Given the description of an element on the screen output the (x, y) to click on. 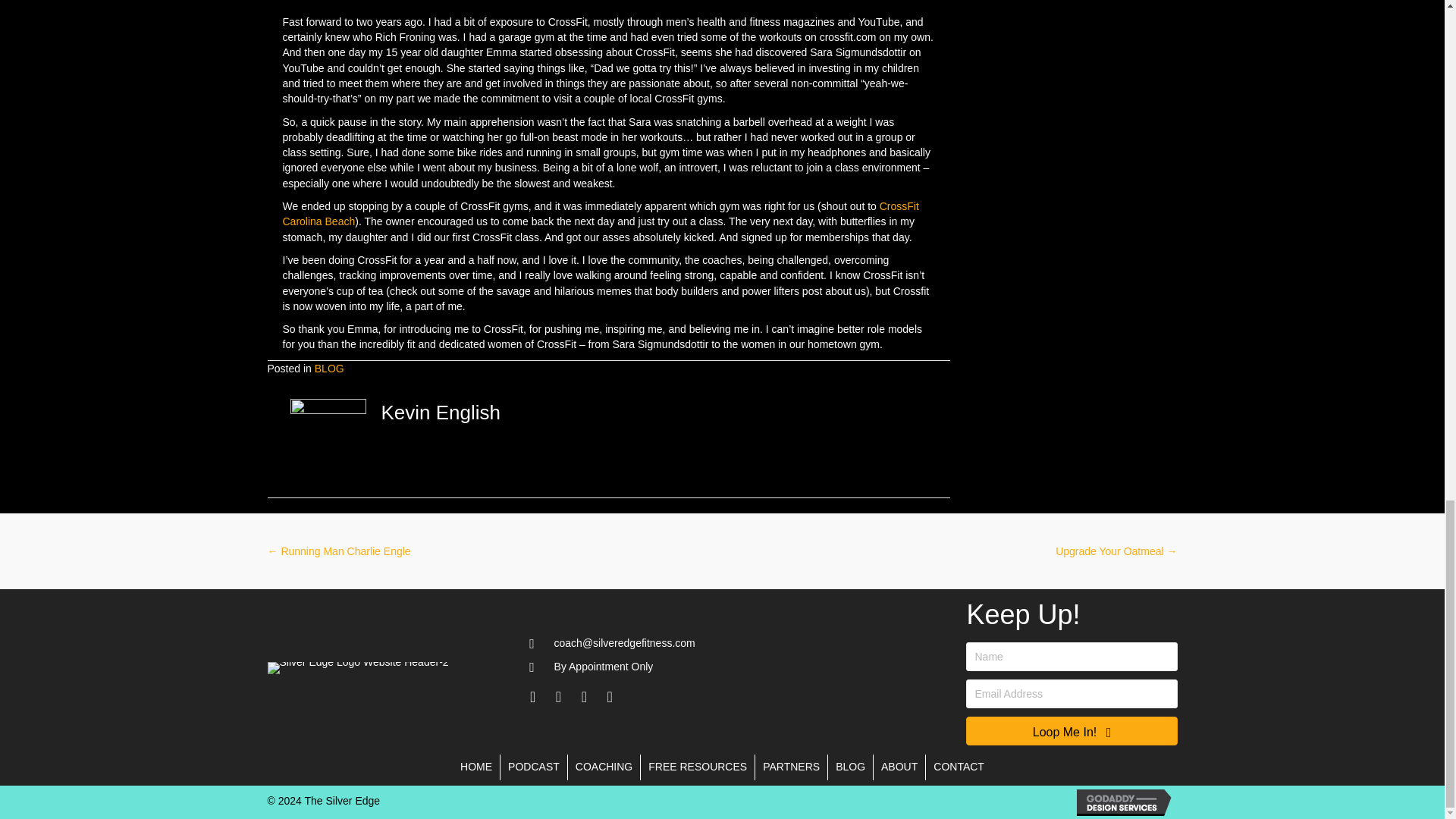
Silver Edge Logo Website Header-2 (357, 667)
COACHING (603, 767)
BLOG (328, 368)
Loop Me In! (1071, 730)
CrossFit Carolina Beach (600, 213)
PODCAST (533, 767)
HOME (475, 767)
